Given the description of an element on the screen output the (x, y) to click on. 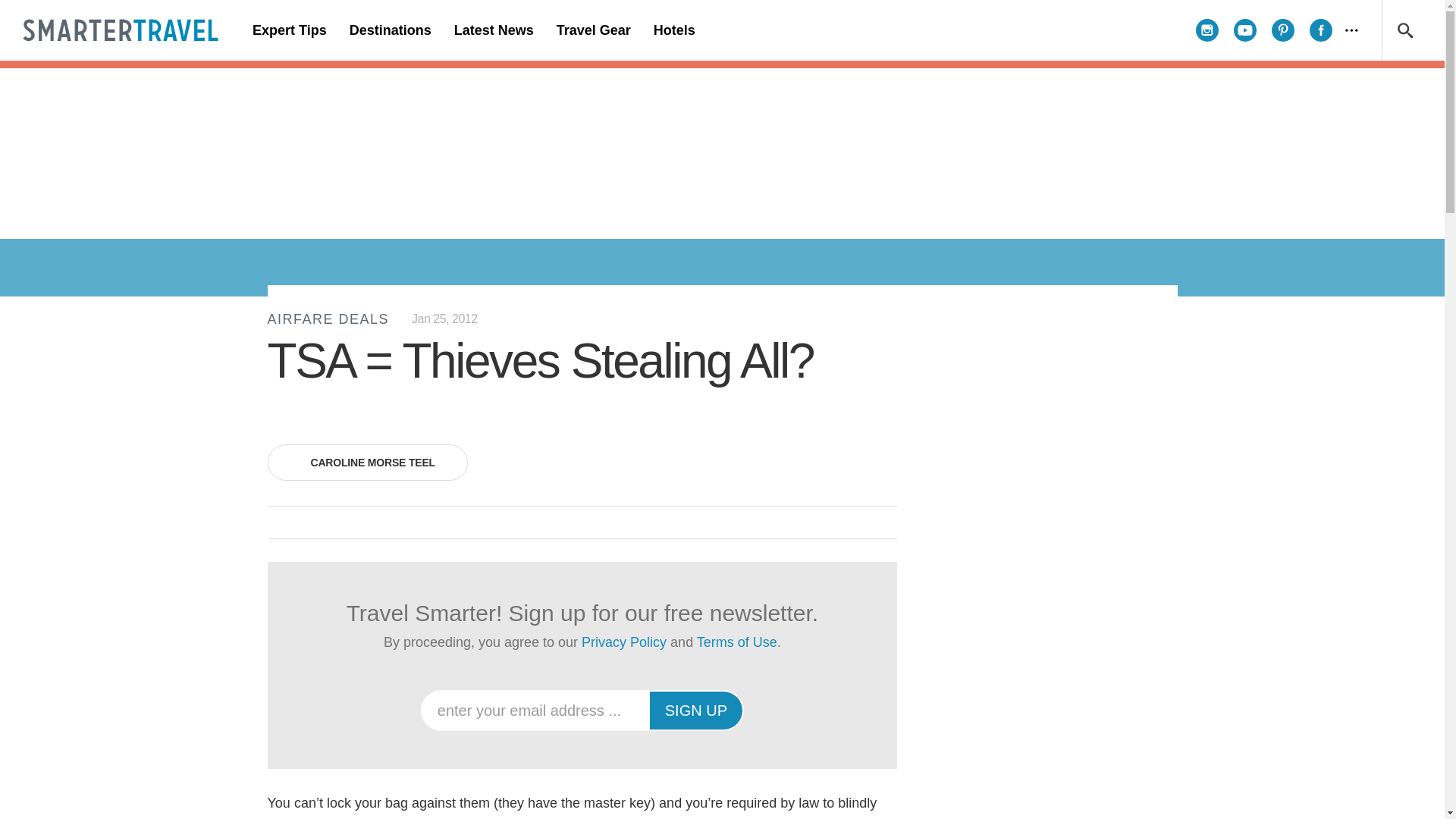
Expert Tips (289, 30)
Destinations (389, 30)
Travel Gear (593, 30)
Hotels (674, 30)
Latest News (493, 30)
